Given the description of an element on the screen output the (x, y) to click on. 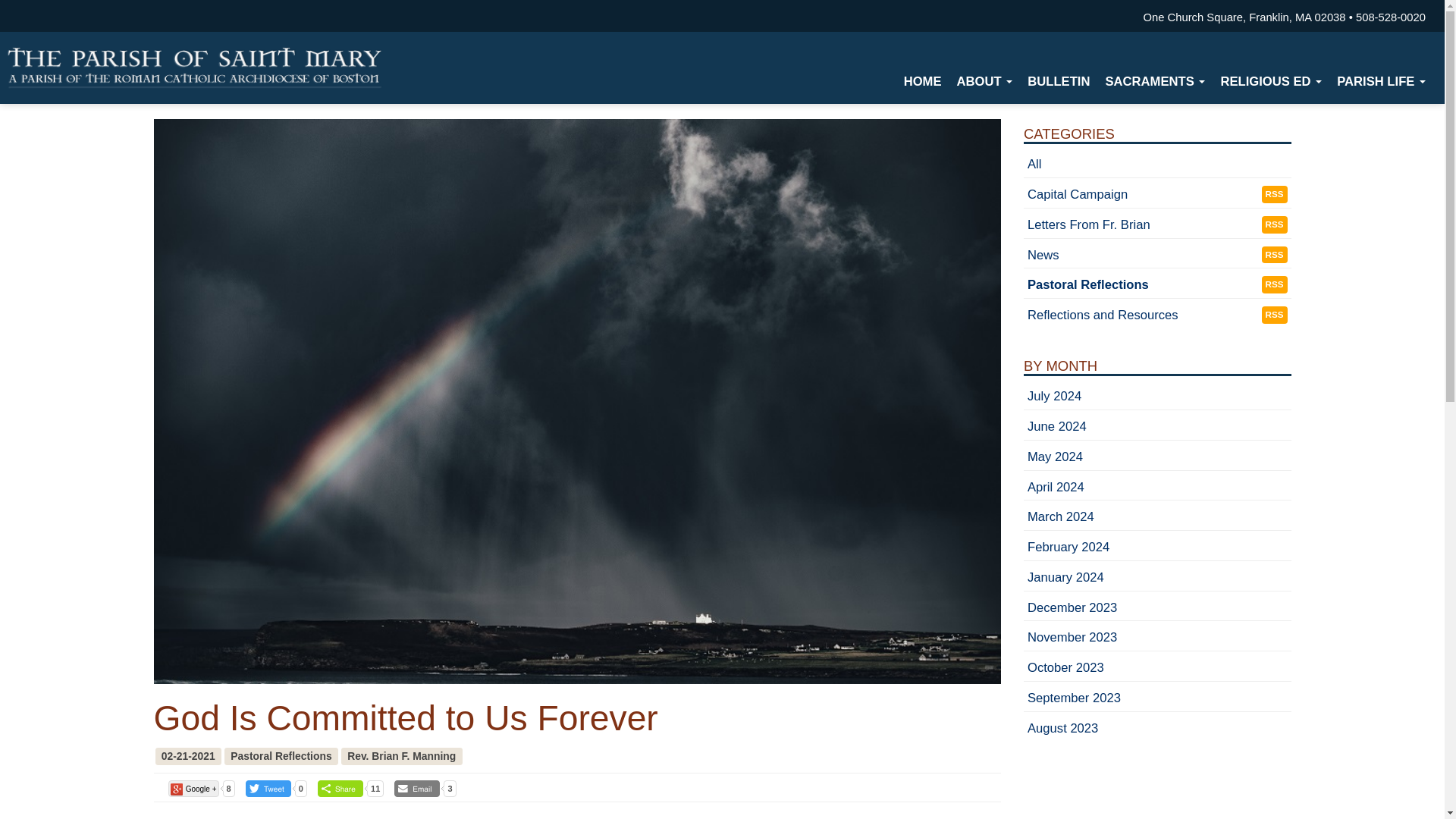
BULLETIN (1058, 81)
RELIGIOUS ED (1270, 81)
ABOUT (984, 81)
SACRAMENTS (1154, 81)
HOME (922, 81)
